Given the description of an element on the screen output the (x, y) to click on. 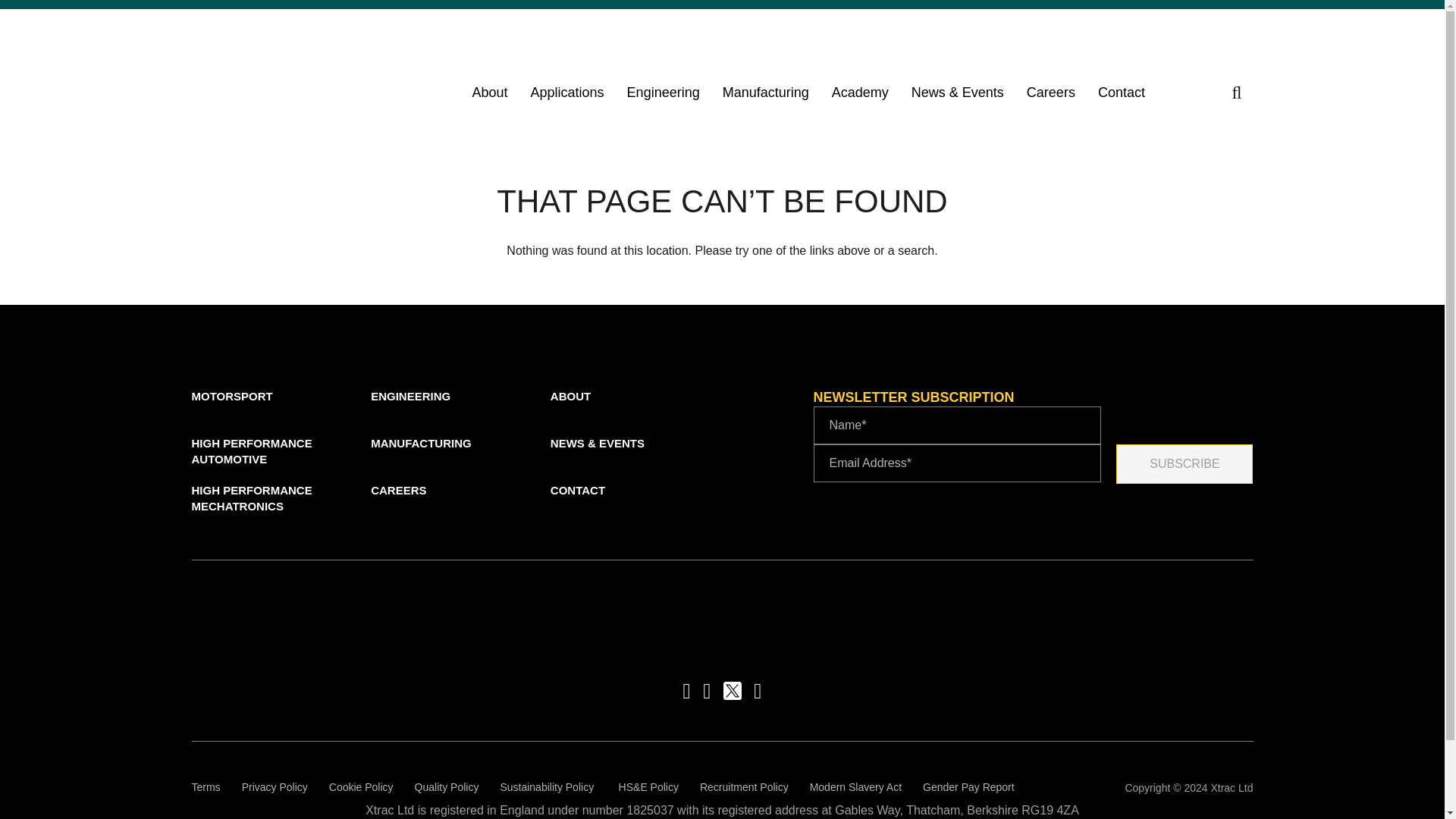
About (490, 91)
Applications (567, 91)
Applications (567, 91)
Xtrac Transmission Technology (293, 75)
About (490, 91)
Careers (1050, 91)
Engineering (663, 91)
Manufacturing (766, 91)
Academy (860, 91)
